Given the description of an element on the screen output the (x, y) to click on. 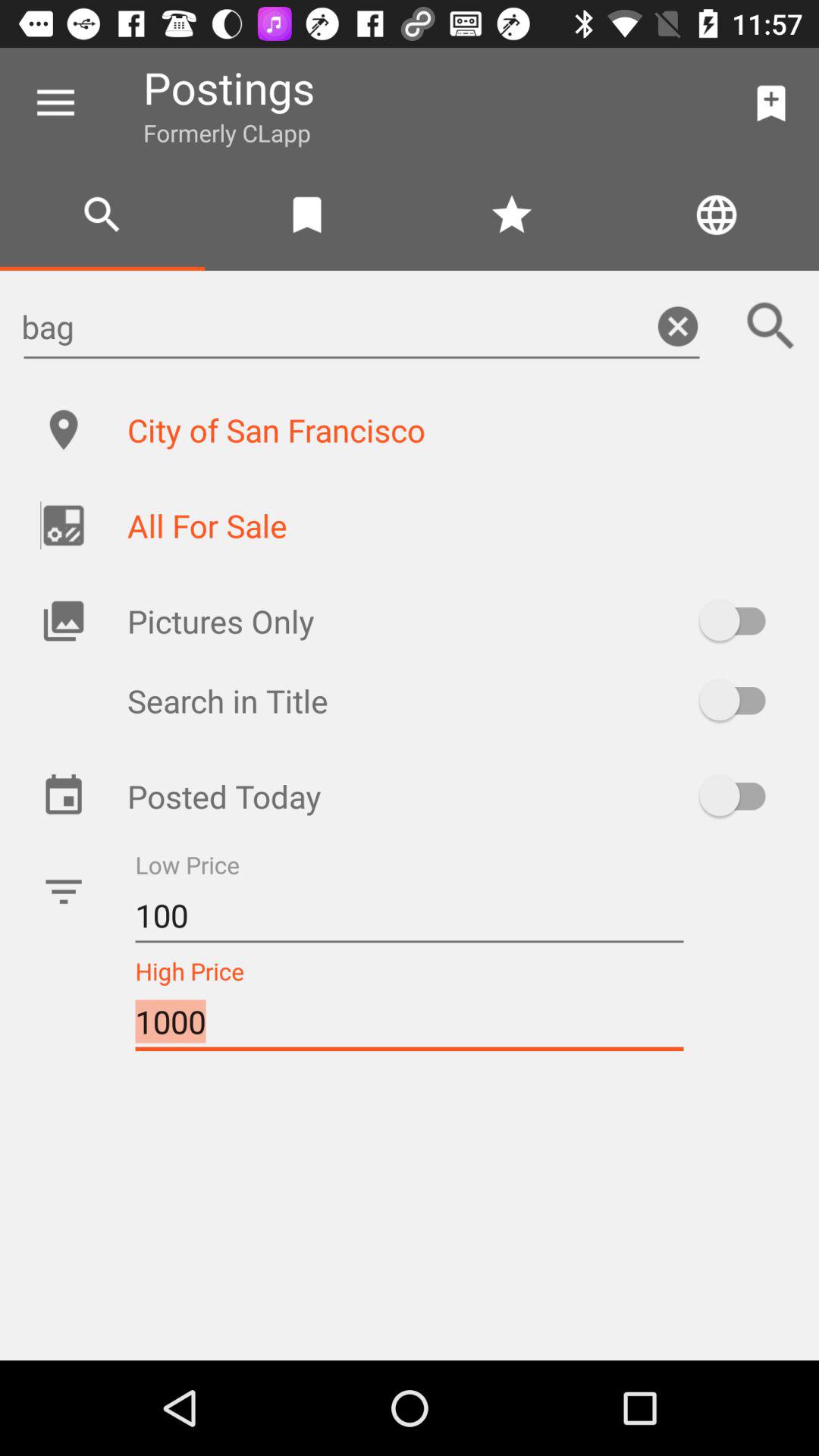
turn off item to the right of the bag item (771, 326)
